Given the description of an element on the screen output the (x, y) to click on. 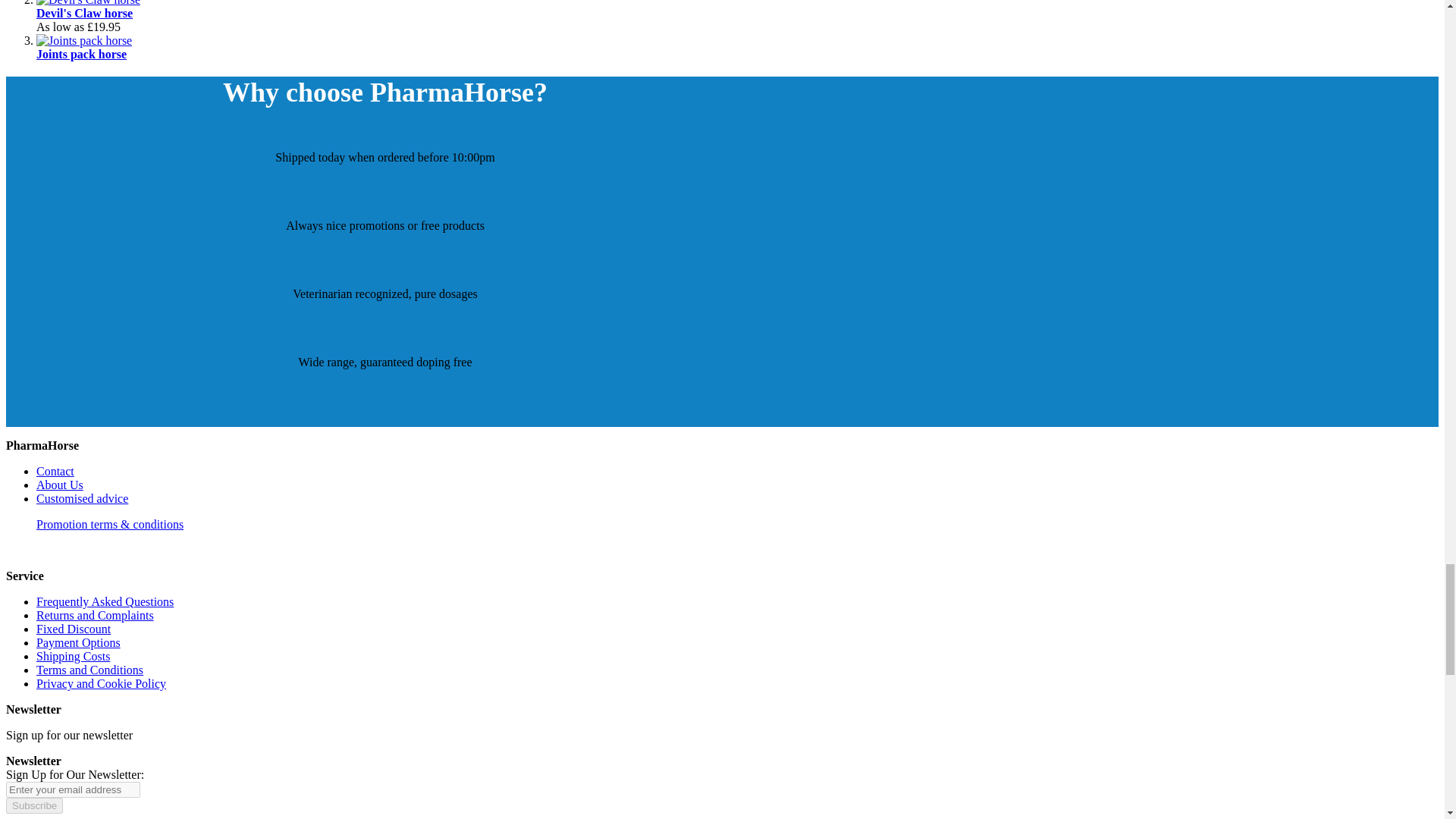
Joints pack horse (81, 53)
Subscribe (33, 805)
Devil's Claw horse (84, 12)
